Given the description of an element on the screen output the (x, y) to click on. 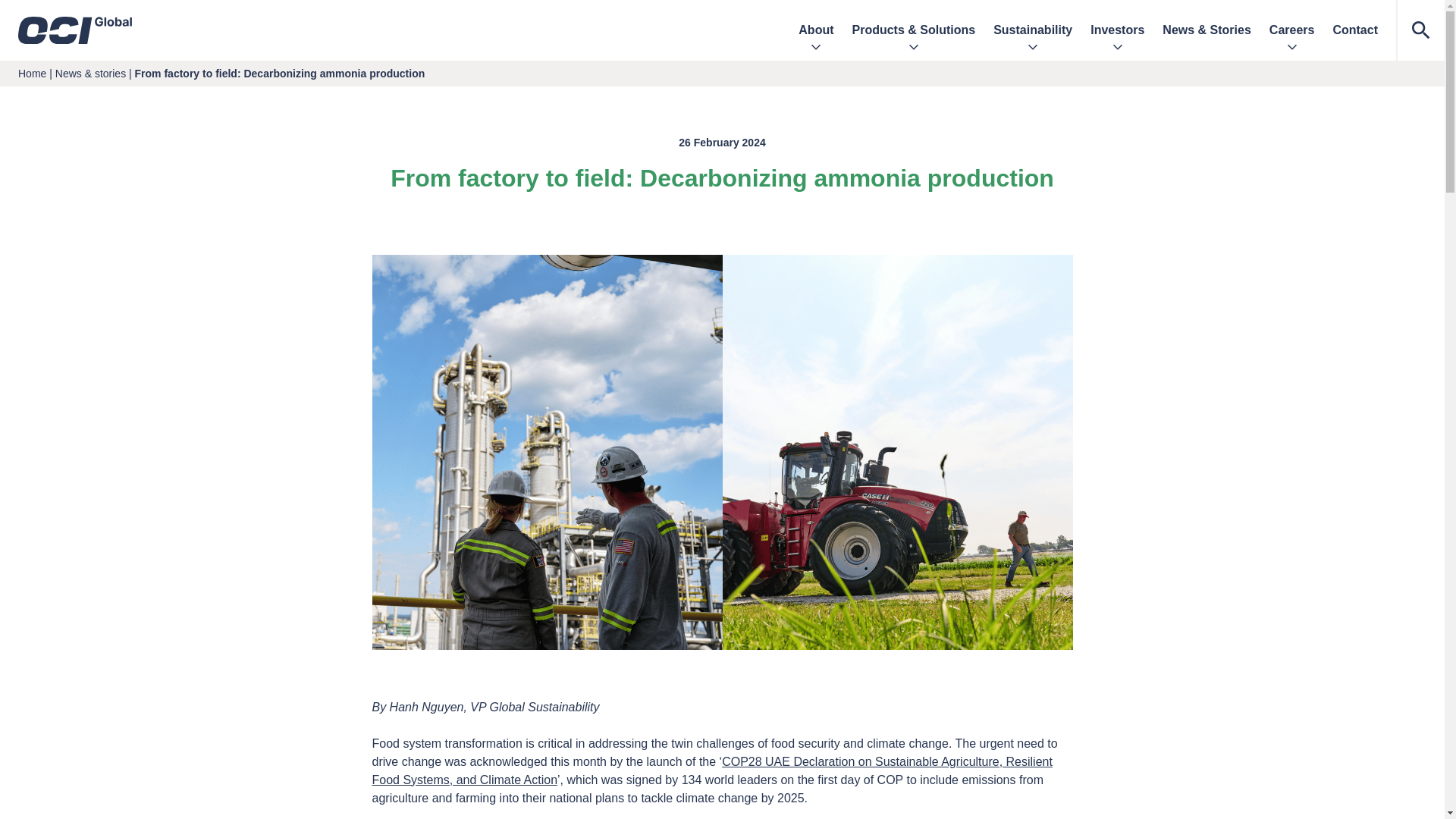
Sustainability (1031, 30)
